Given the description of an element on the screen output the (x, y) to click on. 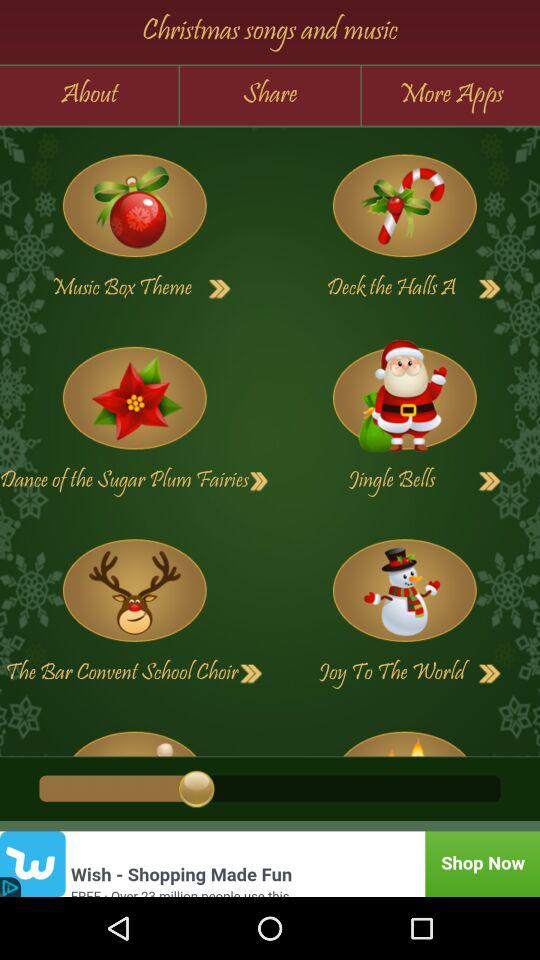
next button (220, 289)
